Given the description of an element on the screen output the (x, y) to click on. 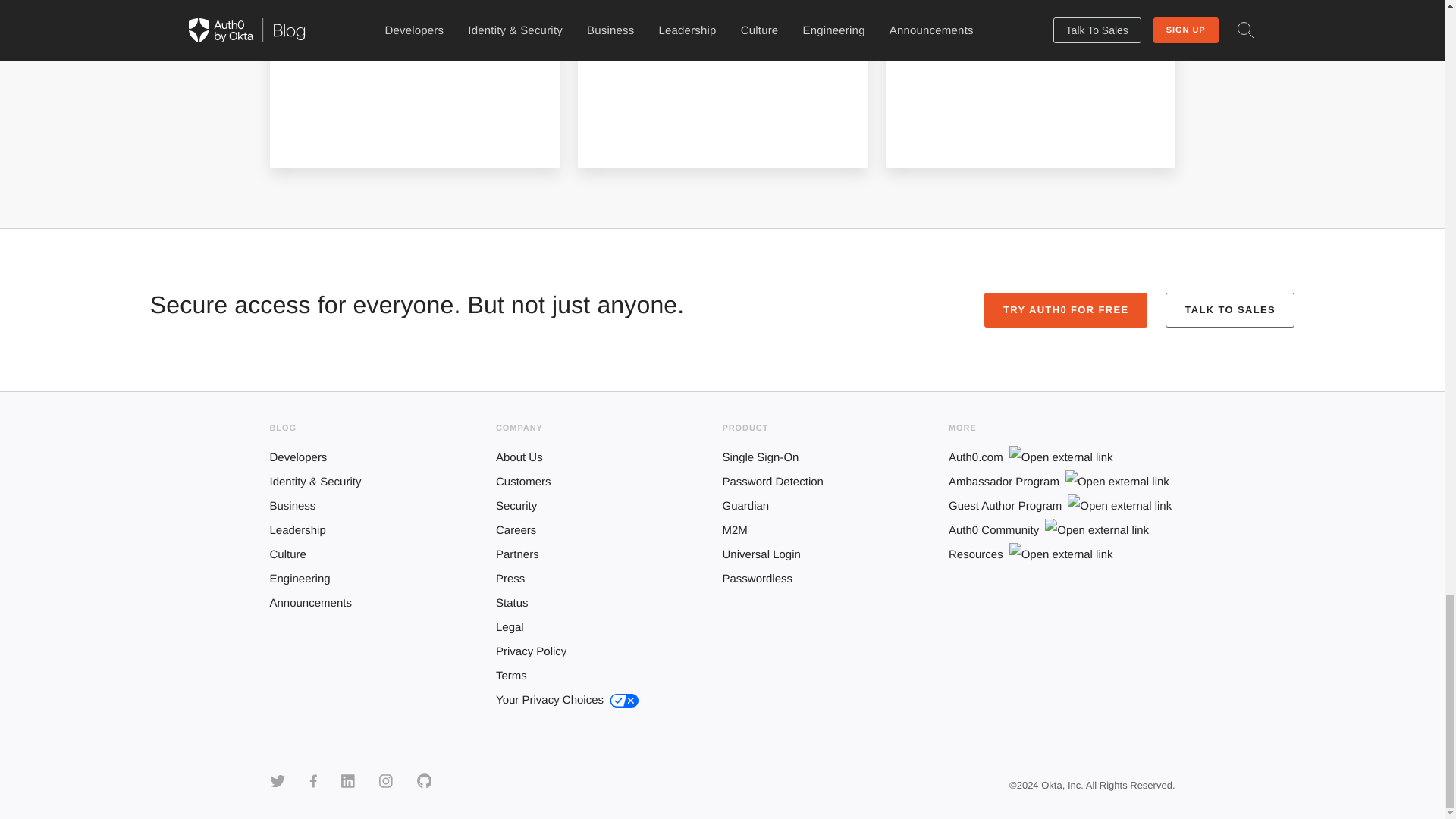
Ambassadors Program (692, 13)
Guest Authors (363, 13)
JOIN US (335, 121)
JOIN US (643, 121)
